Given the description of an element on the screen output the (x, y) to click on. 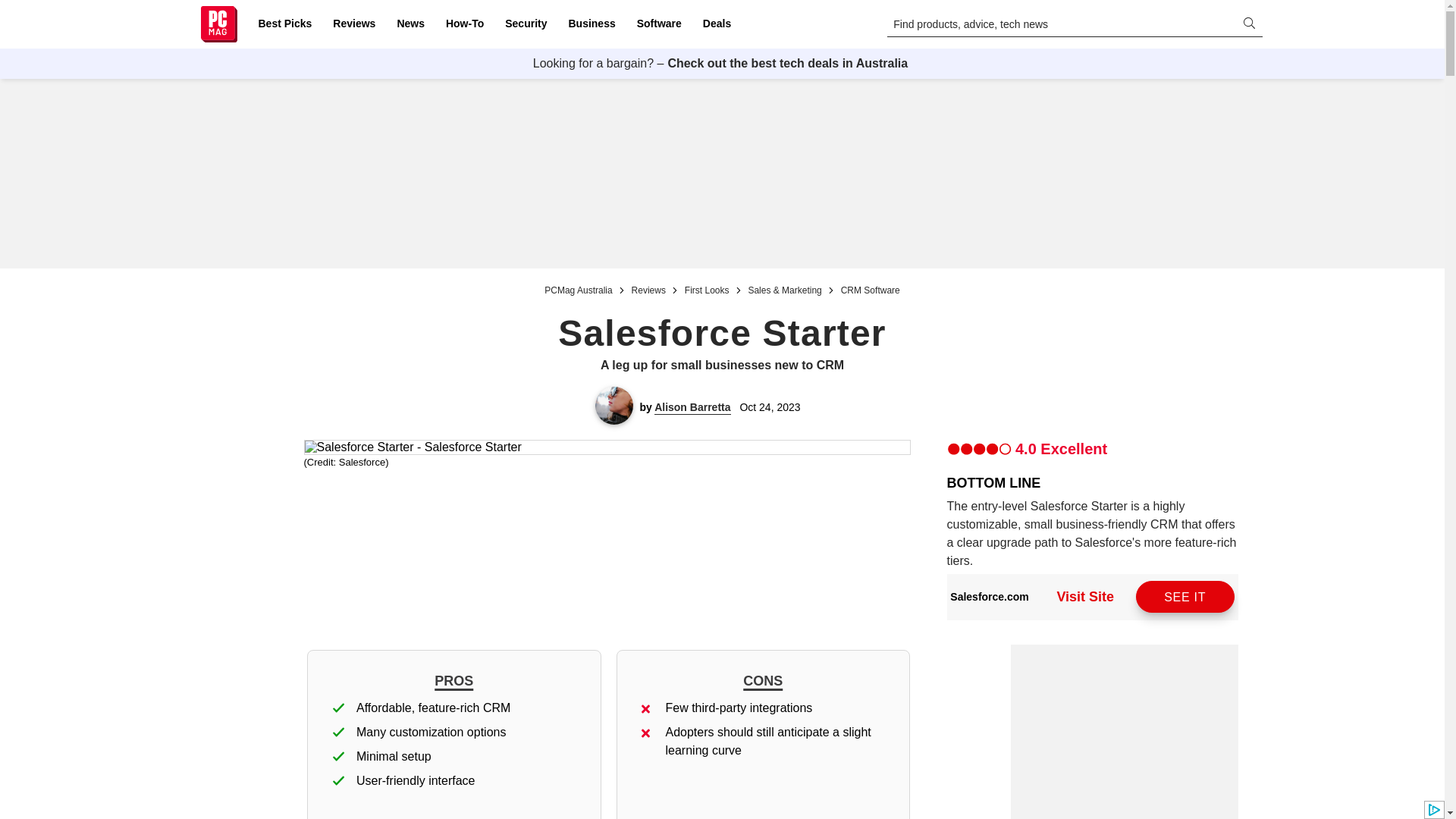
Security (526, 24)
Business (591, 24)
Best Picks (284, 24)
How-To (464, 24)
News (410, 24)
Reviews (353, 24)
Salesforce Starter - Salesforce Starter (606, 447)
